Given the description of an element on the screen output the (x, y) to click on. 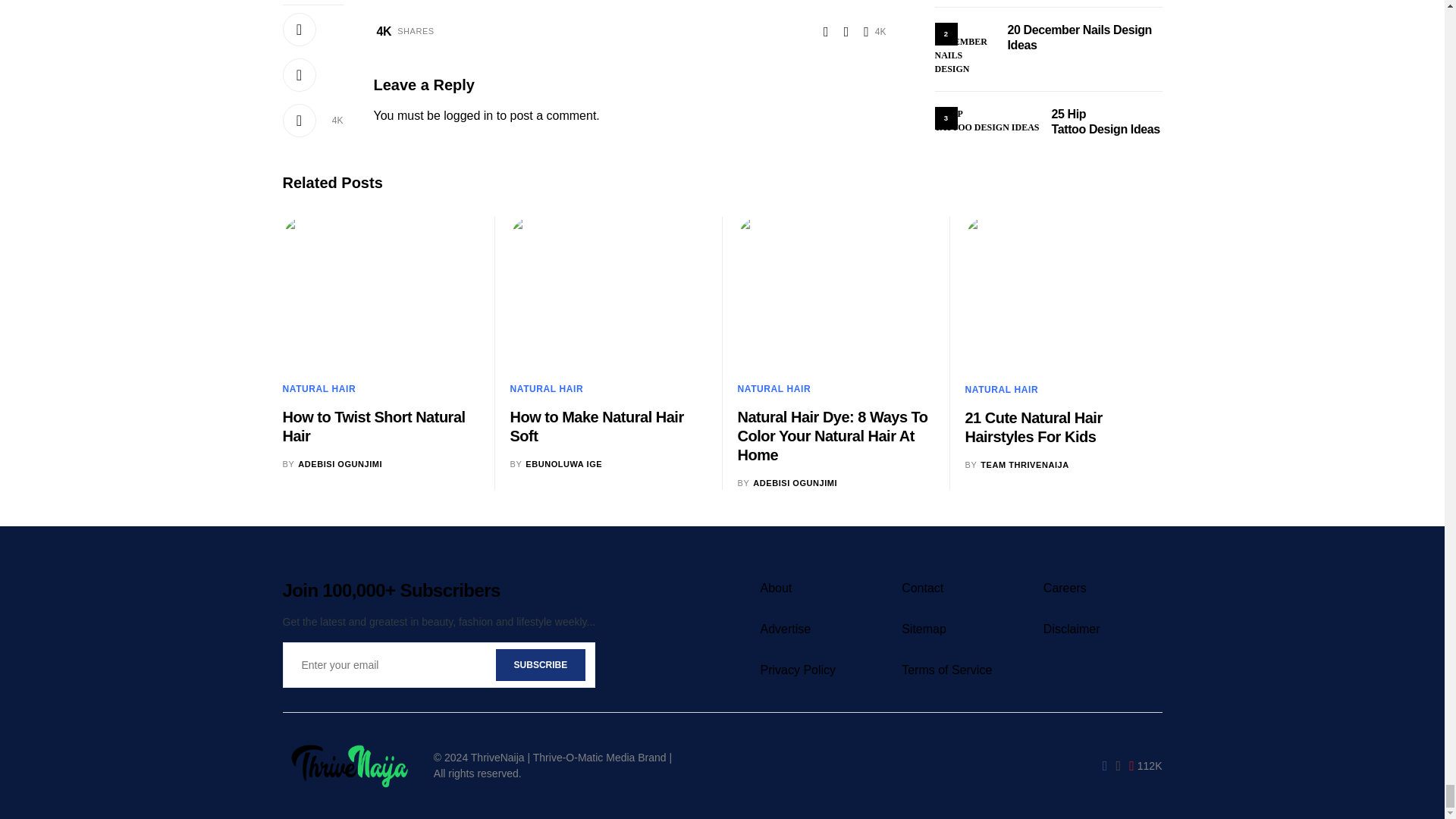
View all posts by Ebunoluwa Ige (555, 463)
View all posts by Adebisi Ogunjimi (331, 463)
View all posts by Adebisi Ogunjimi (786, 482)
View all posts by Team ThriveNaija (1015, 464)
